Given the description of an element on the screen output the (x, y) to click on. 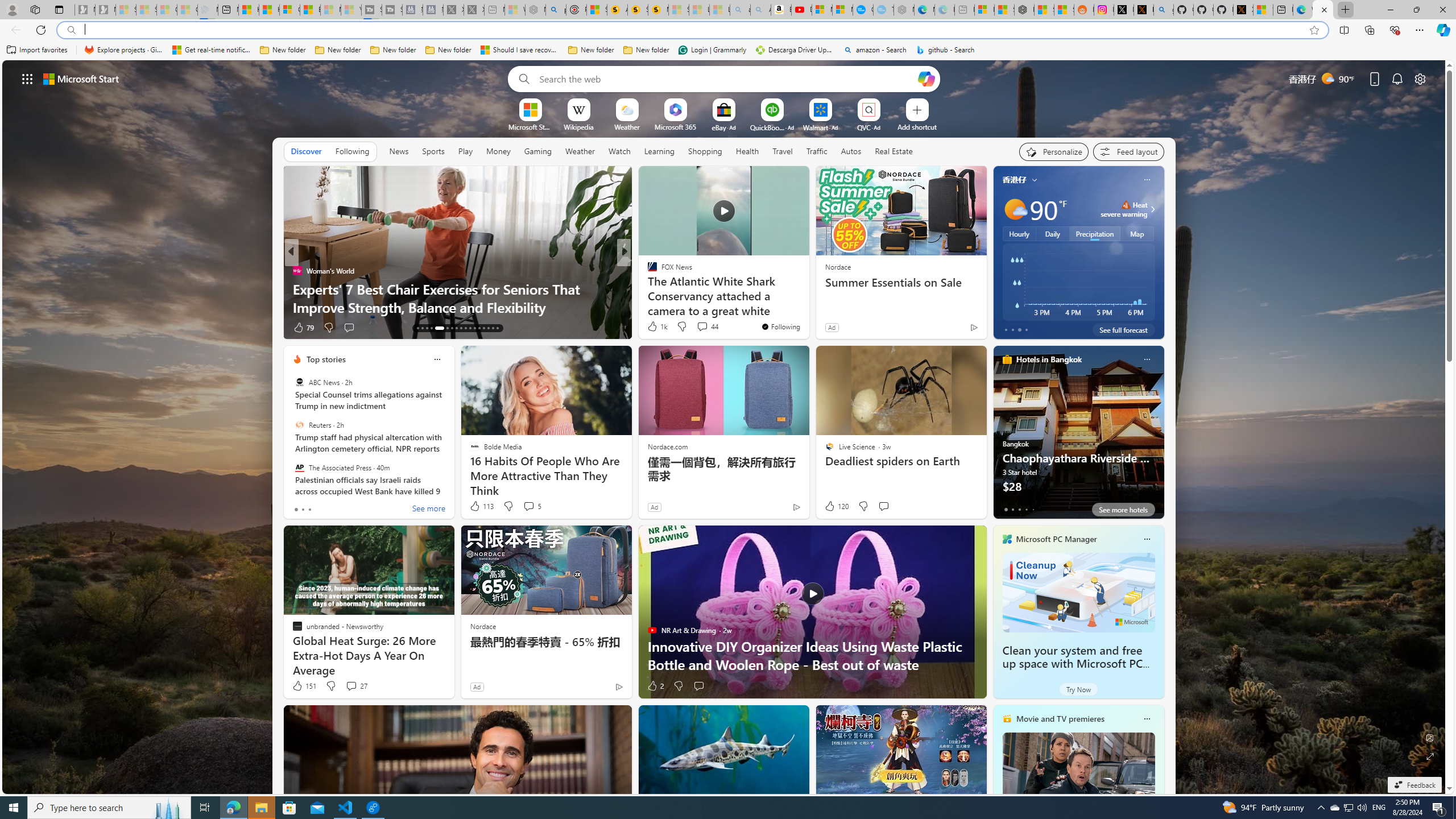
New folder (646, 49)
News (398, 151)
Real Estate (893, 151)
The Associated Press (299, 466)
View comments 3 Comment (698, 327)
Close (1442, 9)
128 Like (654, 327)
AutomationID: tab-18 (444, 328)
AutomationID: tab-27 (488, 328)
The most popular Google 'how to' searches - Sleeping (882, 9)
